Given the description of an element on the screen output the (x, y) to click on. 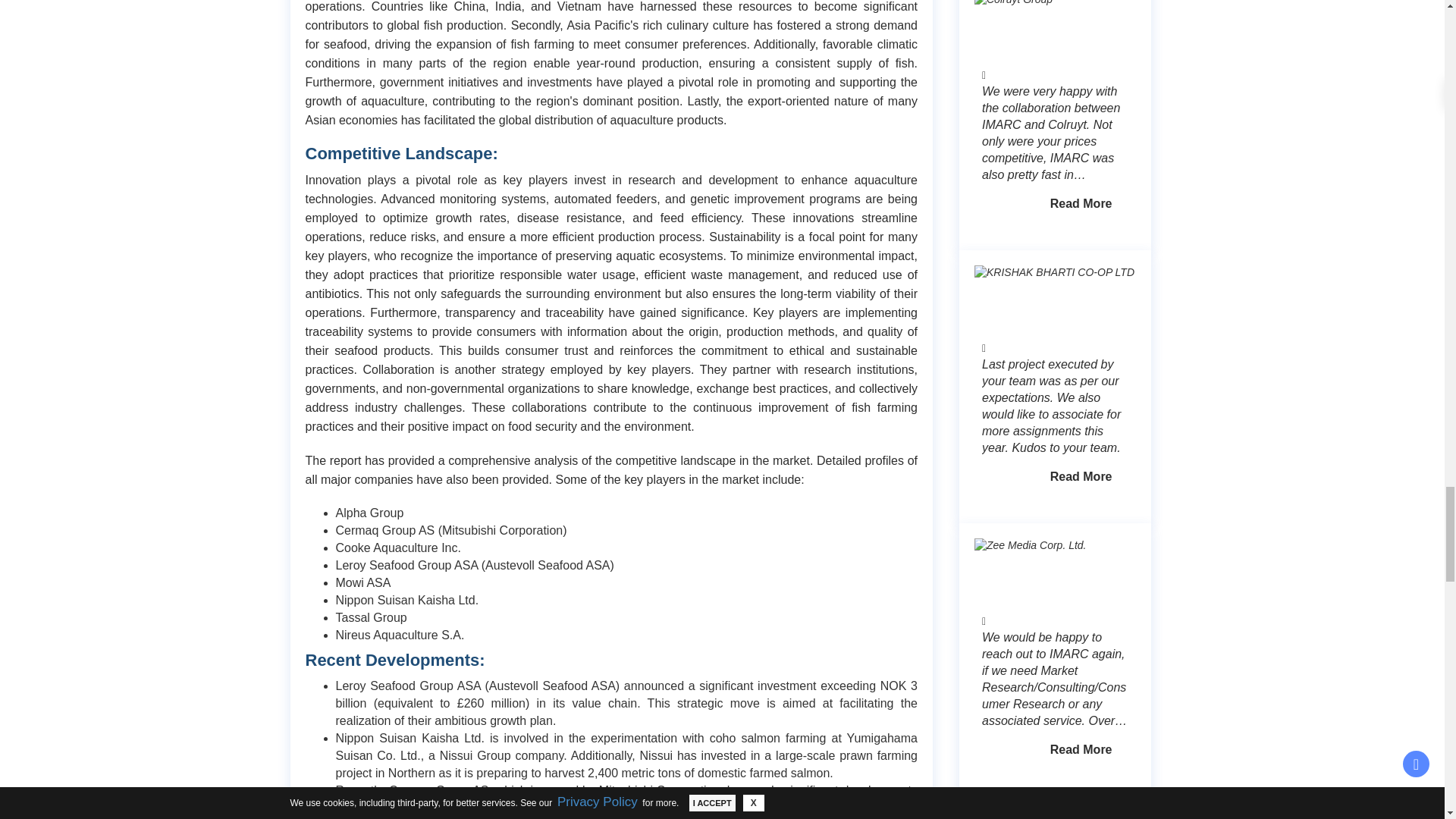
Know more (1081, 275)
Know more (1081, 8)
